Given the description of an element on the screen output the (x, y) to click on. 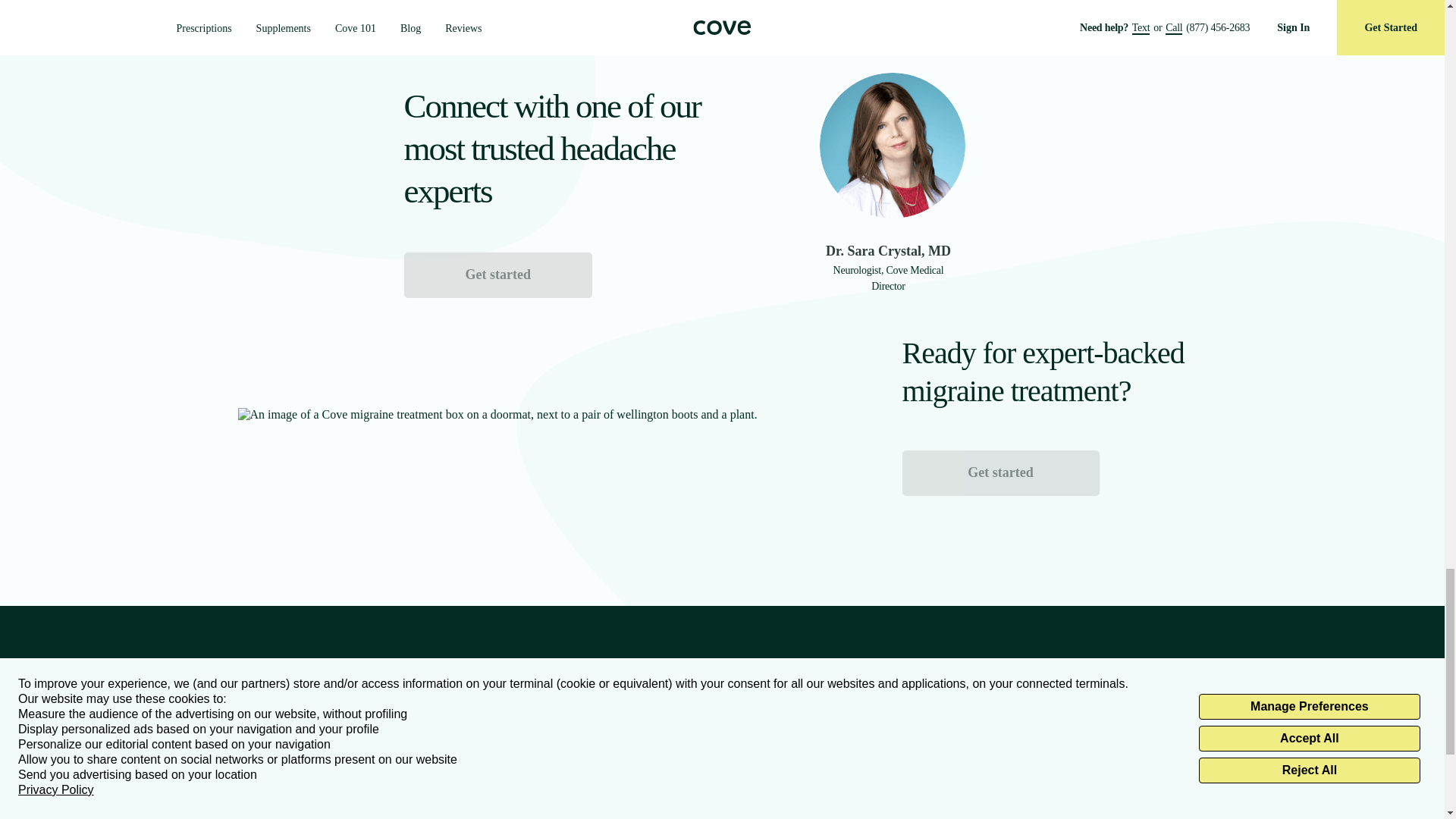
Get started (497, 274)
Get started (497, 275)
Contact (379, 810)
Get started (1000, 472)
Cove 101 (258, 810)
Get started (1000, 473)
Employer Program (488, 785)
Our offering (266, 785)
FAQ (373, 785)
